Given the description of an element on the screen output the (x, y) to click on. 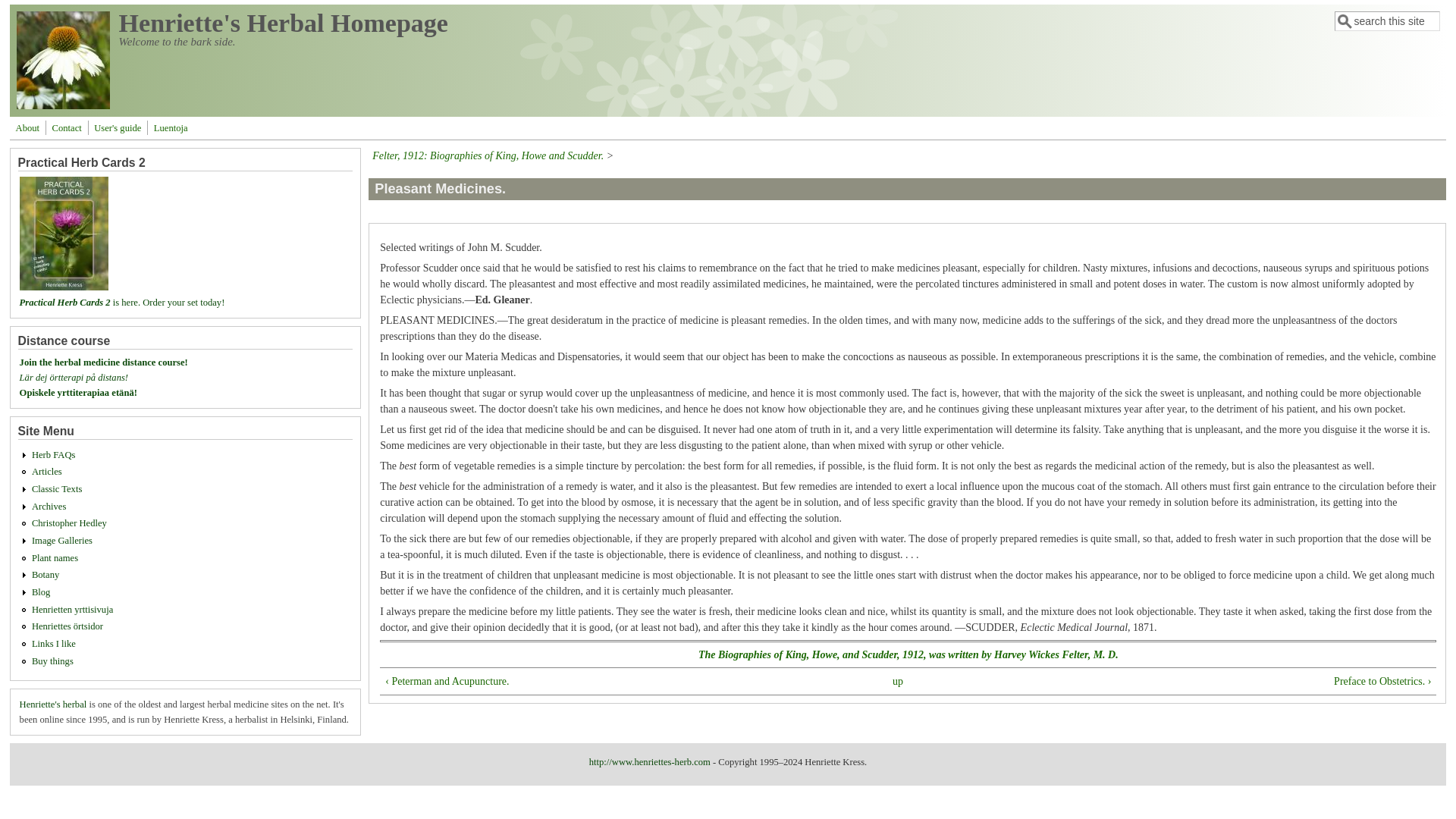
Herbal articles. (47, 471)
Links I like (53, 643)
History of the site, author bio, etc. (27, 128)
Suomenkielinen osa Henrietten yrttisivustosta. (72, 609)
Botanical keys with photos by Jan De Langhe. (45, 574)
Felter, 1912: Biographies of King, Howe and Scudder. (488, 155)
search this site (1387, 21)
User's guide (117, 128)
Articles (47, 471)
Henriette's Herbal Homepage (283, 22)
Home (63, 105)
Practical Herb Cards 2 is here. Order your set today! (122, 302)
Herb FAQs (53, 454)
